Given the description of an element on the screen output the (x, y) to click on. 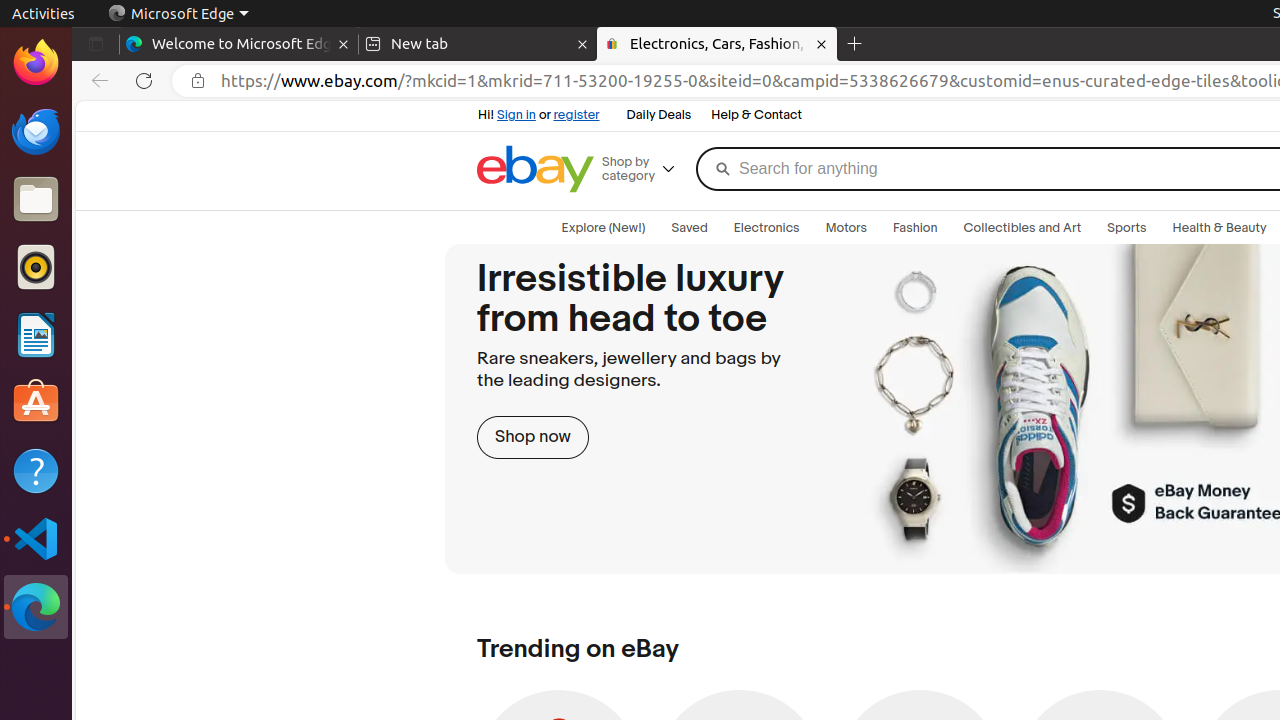
Fashion Element type: link (915, 228)
View site information Element type: push-button (198, 81)
Electronics Element type: link (766, 228)
Electronics, Cars, Fashion, Collectibles & More | eBay Element type: page-tab (717, 44)
Ubuntu Software Element type: push-button (36, 402)
